Given the description of an element on the screen output the (x, y) to click on. 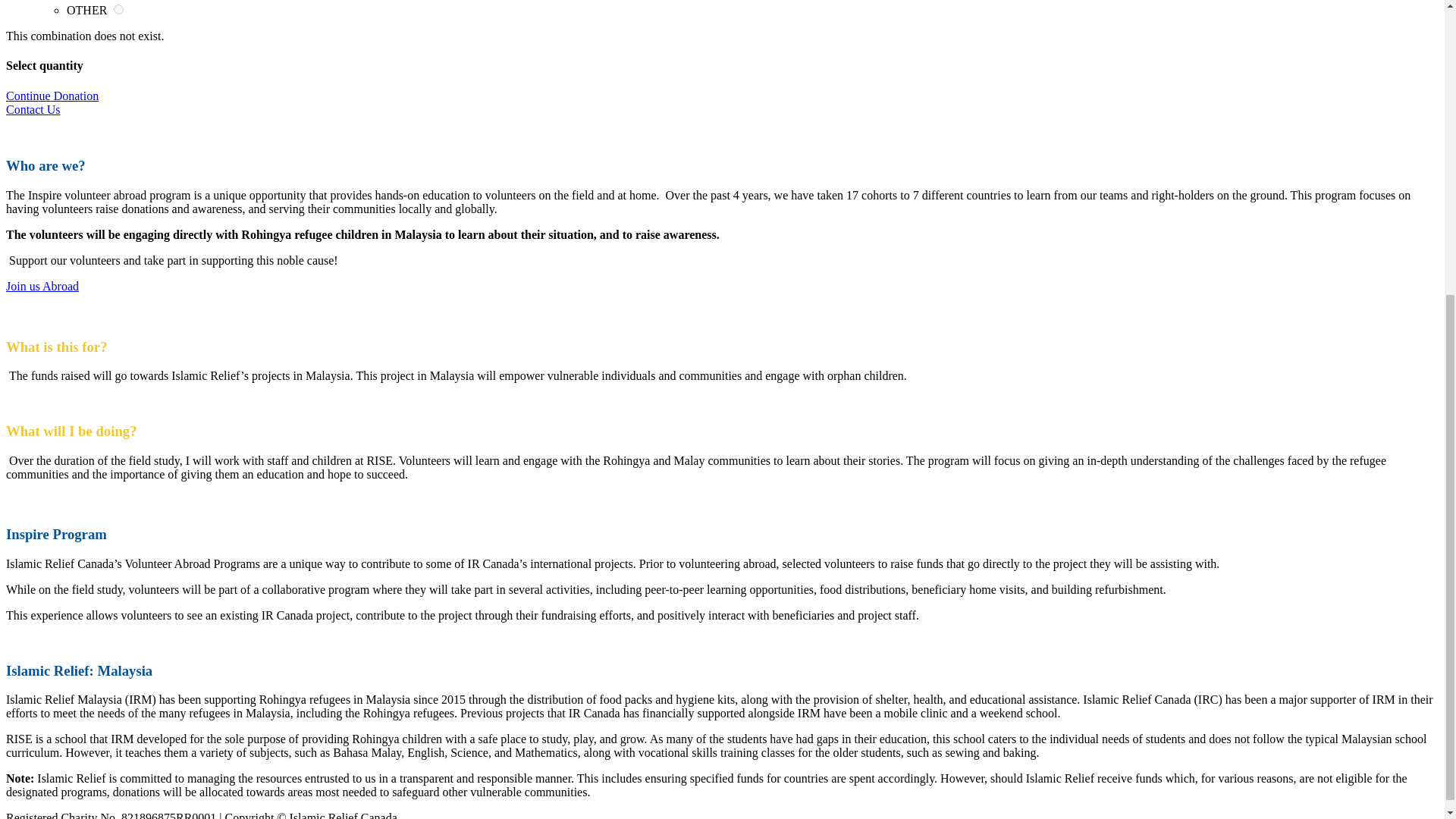
Join us Abroad (41, 286)
2701 (118, 9)
OTHER (118, 9)
Contact Us (33, 109)
Continue Donation (52, 95)
